Given the description of an element on the screen output the (x, y) to click on. 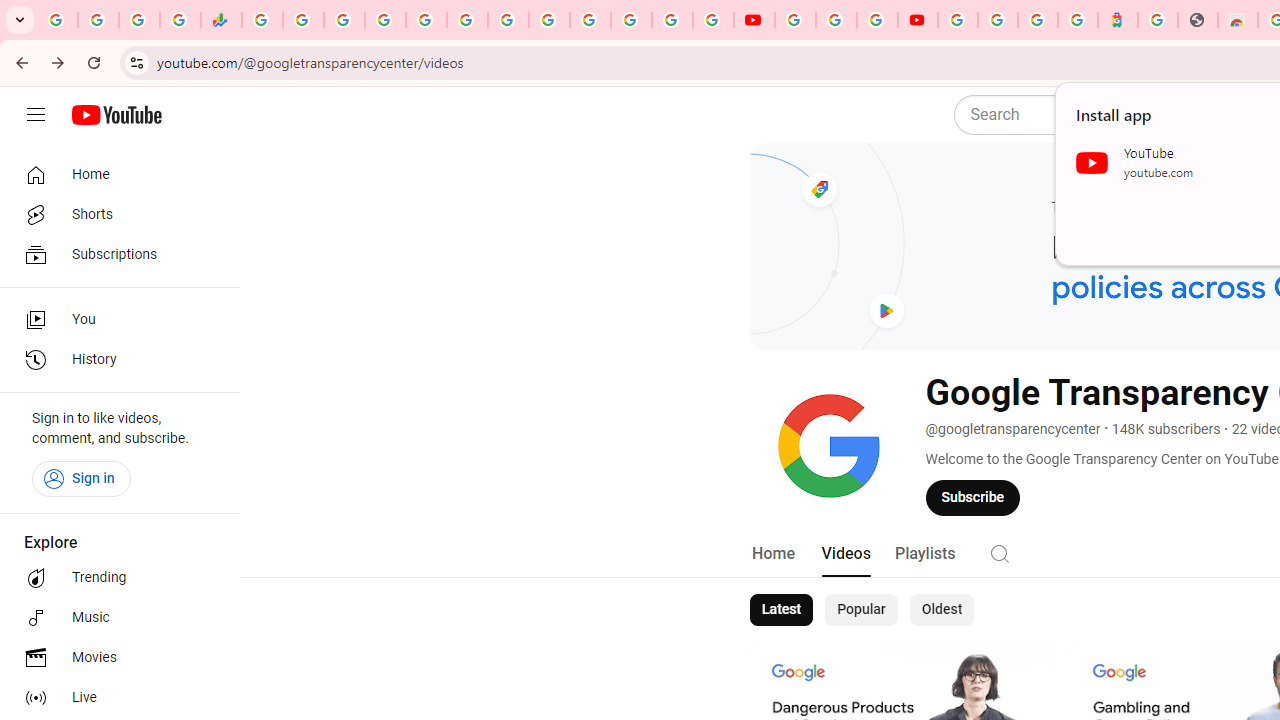
Subscriptions (113, 254)
Music (113, 617)
Sign in - Google Accounts (997, 20)
Movies (113, 657)
Latest (780, 609)
Home (113, 174)
Chrome Web Store - Household (1238, 20)
Atour Hotel - Google hotels (1117, 20)
Google Account Help (836, 20)
